Given the description of an element on the screen output the (x, y) to click on. 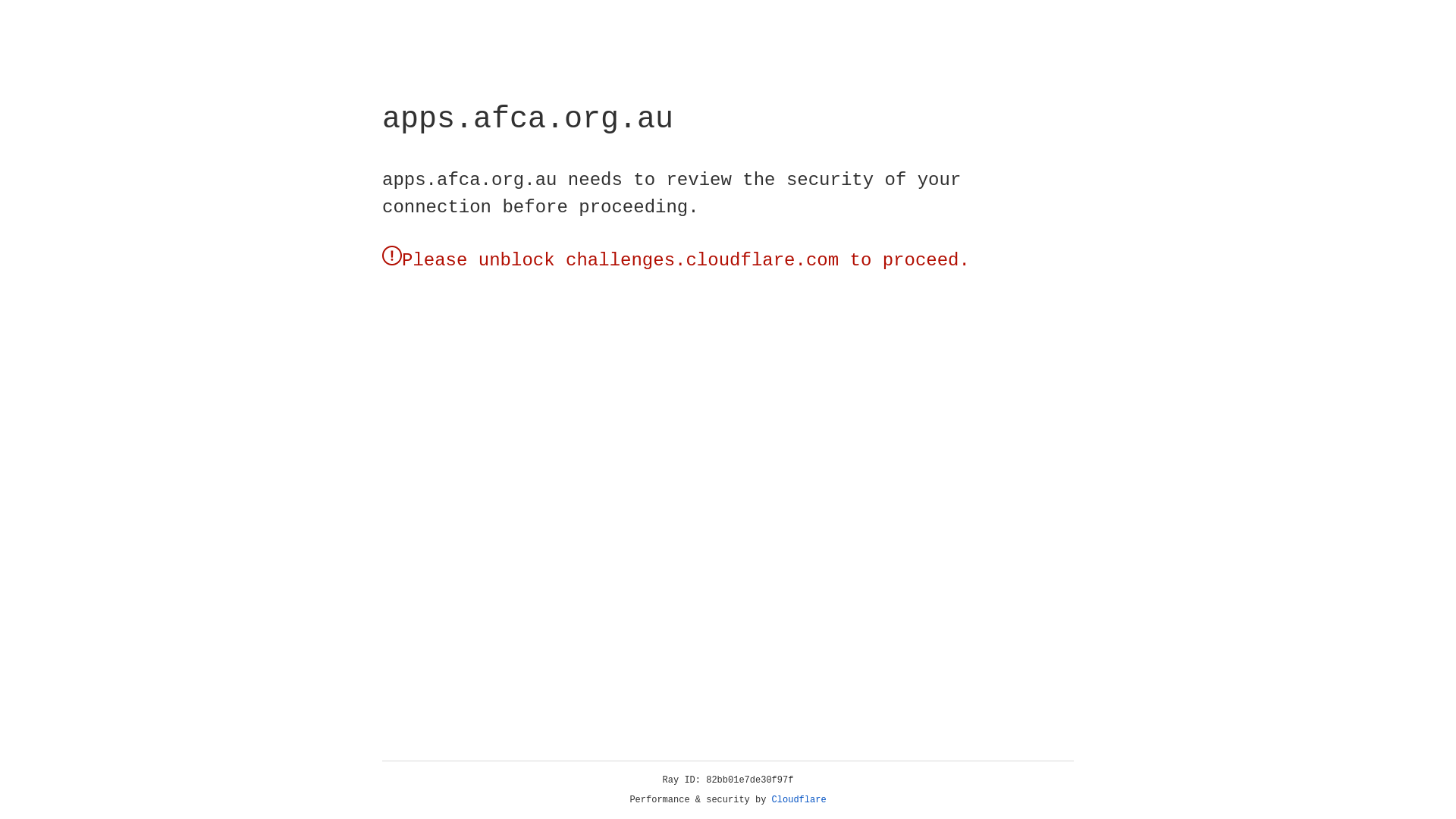
Cloudflare Element type: text (798, 799)
